Given the description of an element on the screen output the (x, y) to click on. 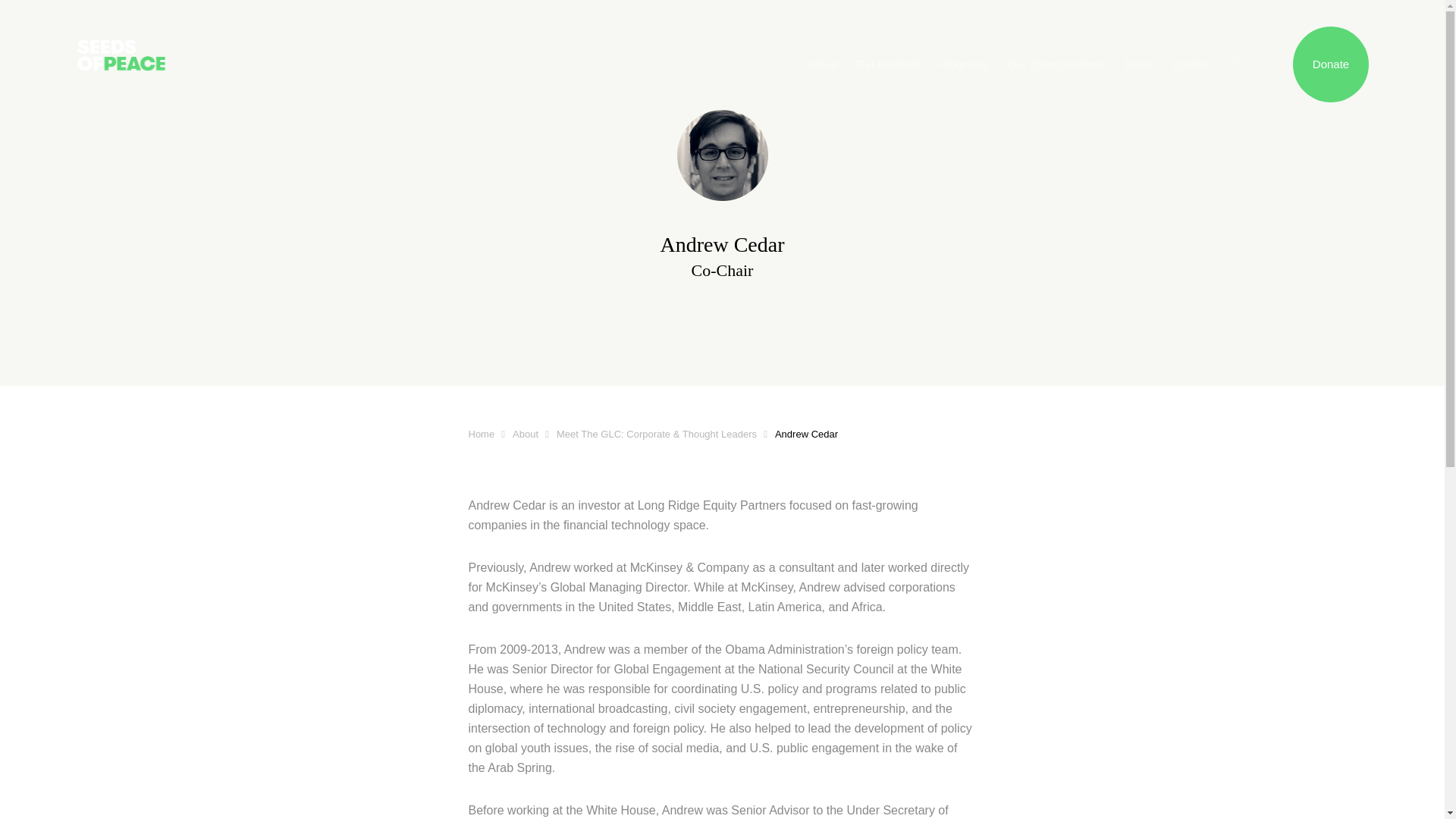
Our Changemakers (1055, 63)
Donate (1330, 64)
Seeds of Peace (173, 36)
